Given the description of an element on the screen output the (x, y) to click on. 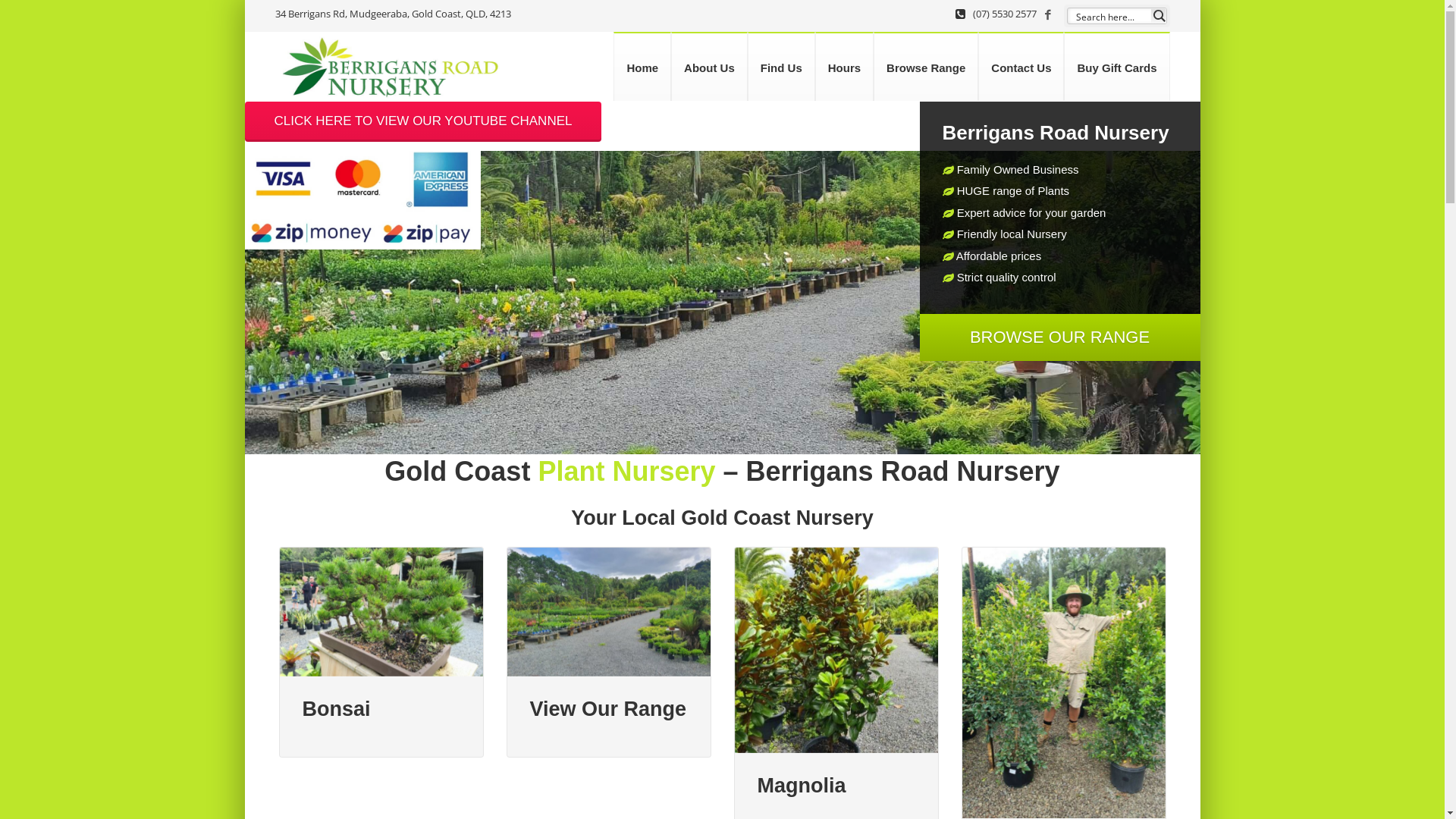
Browse Range Element type: text (925, 65)
Hours Element type: text (844, 65)
Home Element type: text (642, 65)
About Us Element type: text (709, 65)
Facebook Element type: hover (1049, 14)
Search Element type: text (34, 13)
Contact Us Element type: text (1020, 65)
BROWSE OUR RANGE Element type: text (1059, 336)
Find Us Element type: text (781, 65)
View Our Range Element type: text (608, 651)
CLICK HERE TO VIEW OUR YOUTUBE CHANNEL Element type: text (422, 121)
Bonsai Element type: text (381, 651)
Buy Gift Cards Element type: text (1116, 65)
